Given the description of an element on the screen output the (x, y) to click on. 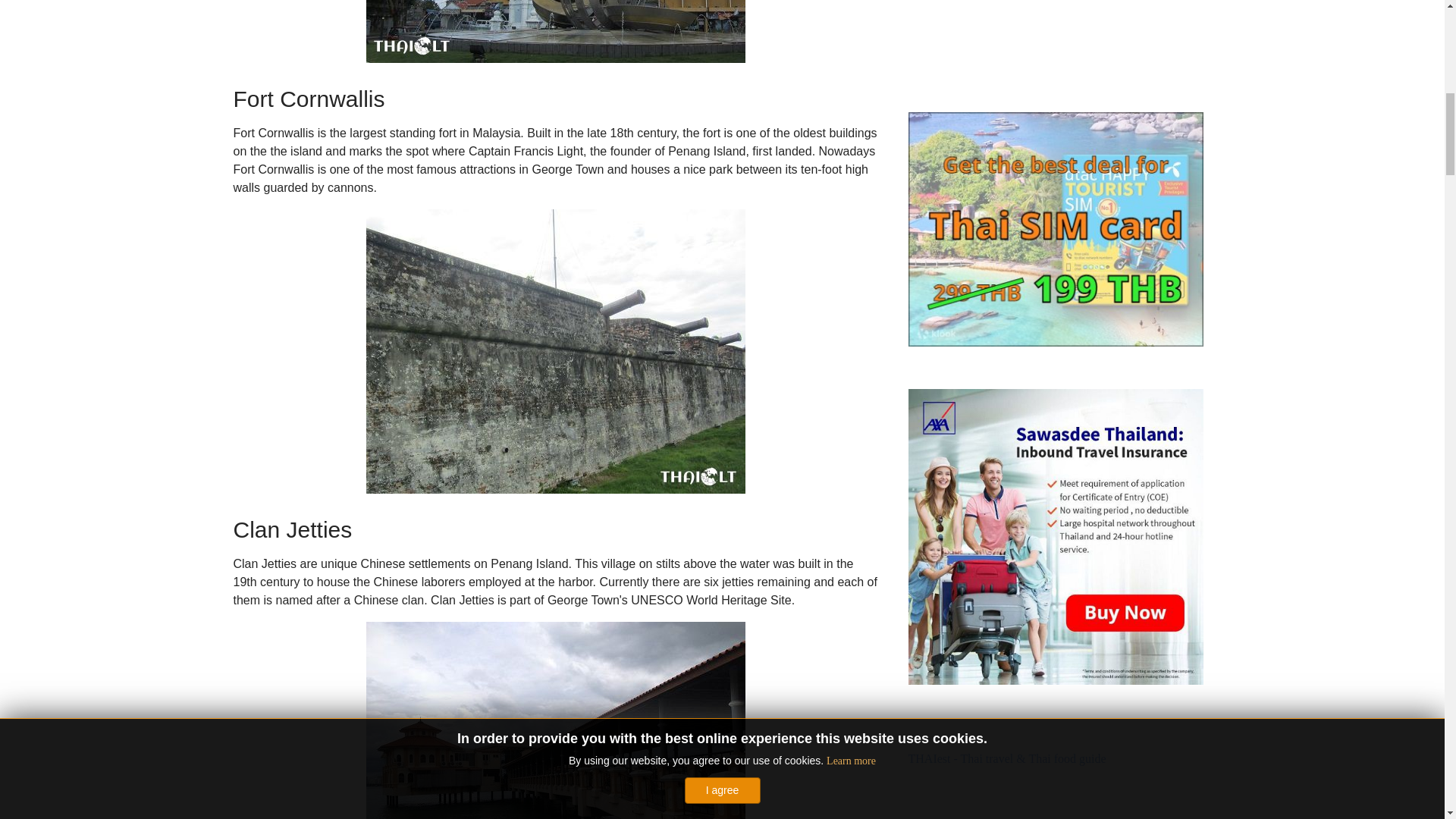
Queen Victoria Memorial Clock Tower (554, 31)
Clan Jetties (554, 720)
Fort Cornwallis (554, 351)
